Given the description of an element on the screen output the (x, y) to click on. 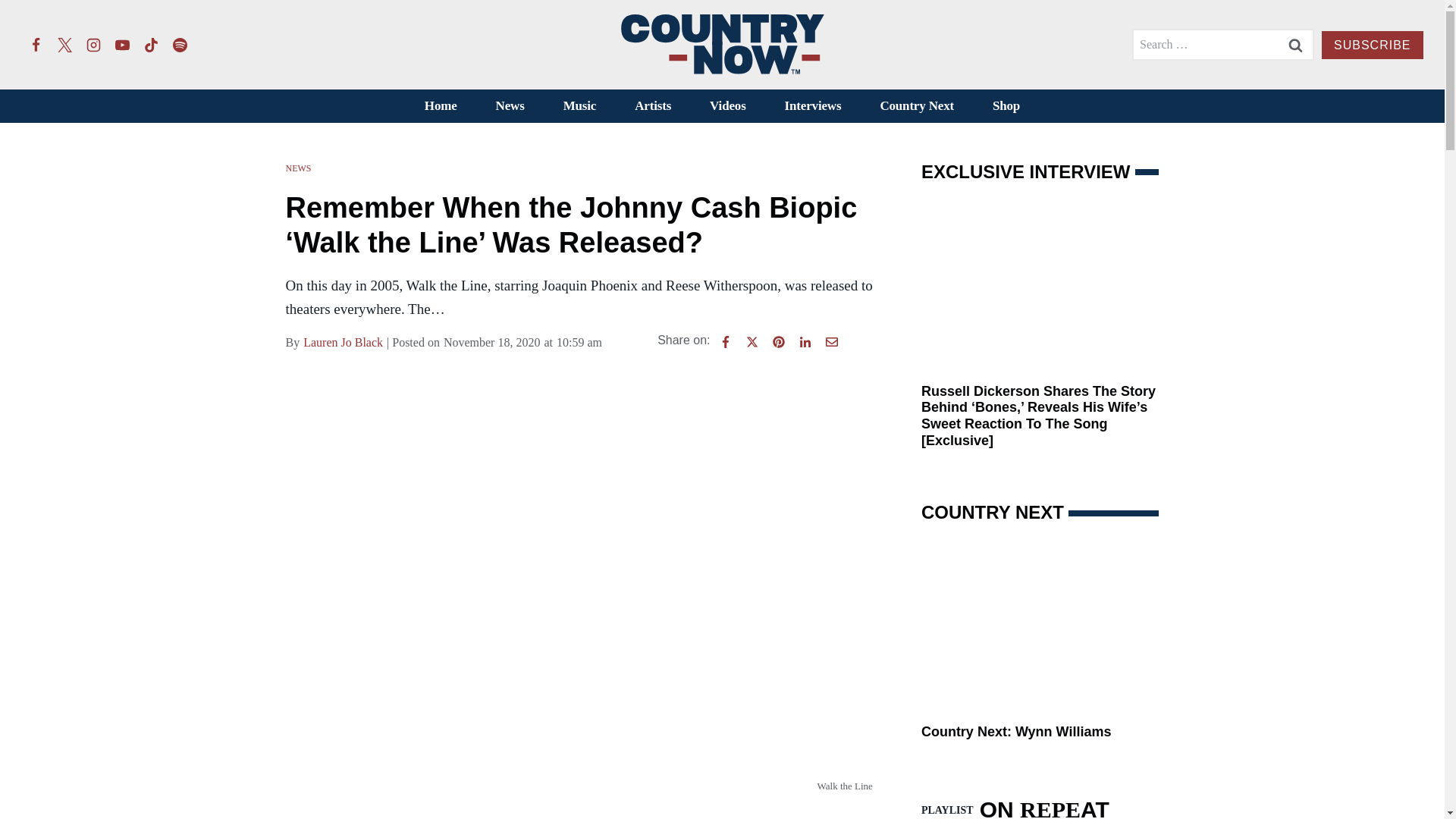
Home (440, 105)
Music (579, 105)
Search (1295, 44)
Search (1295, 44)
Lauren Jo Black (342, 342)
News (509, 105)
Shop (1005, 105)
SUBSCRIBE (1372, 44)
Artists (652, 105)
Videos (727, 105)
Country Next (917, 105)
NEWS (298, 167)
Interviews (812, 105)
Search (1295, 44)
